Given the description of an element on the screen output the (x, y) to click on. 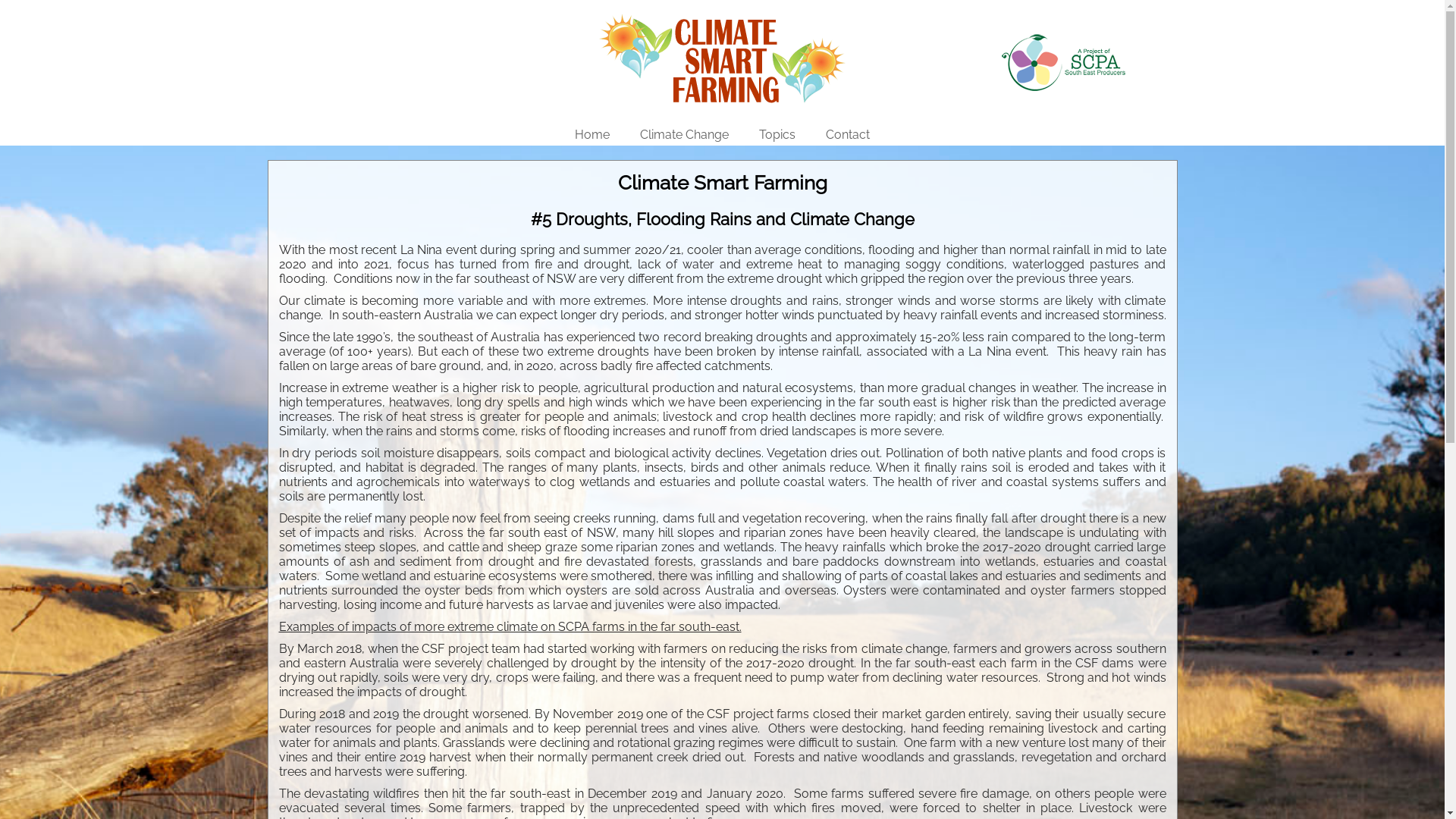
Topics Element type: text (776, 10)
Contact Element type: text (847, 134)
Contact Element type: text (847, 10)
Topics Element type: text (776, 134)
Home Element type: text (591, 10)
Climate Change Element type: text (683, 134)
Home Element type: text (591, 134)
Climate Change Element type: text (683, 10)
